Given the description of an element on the screen output the (x, y) to click on. 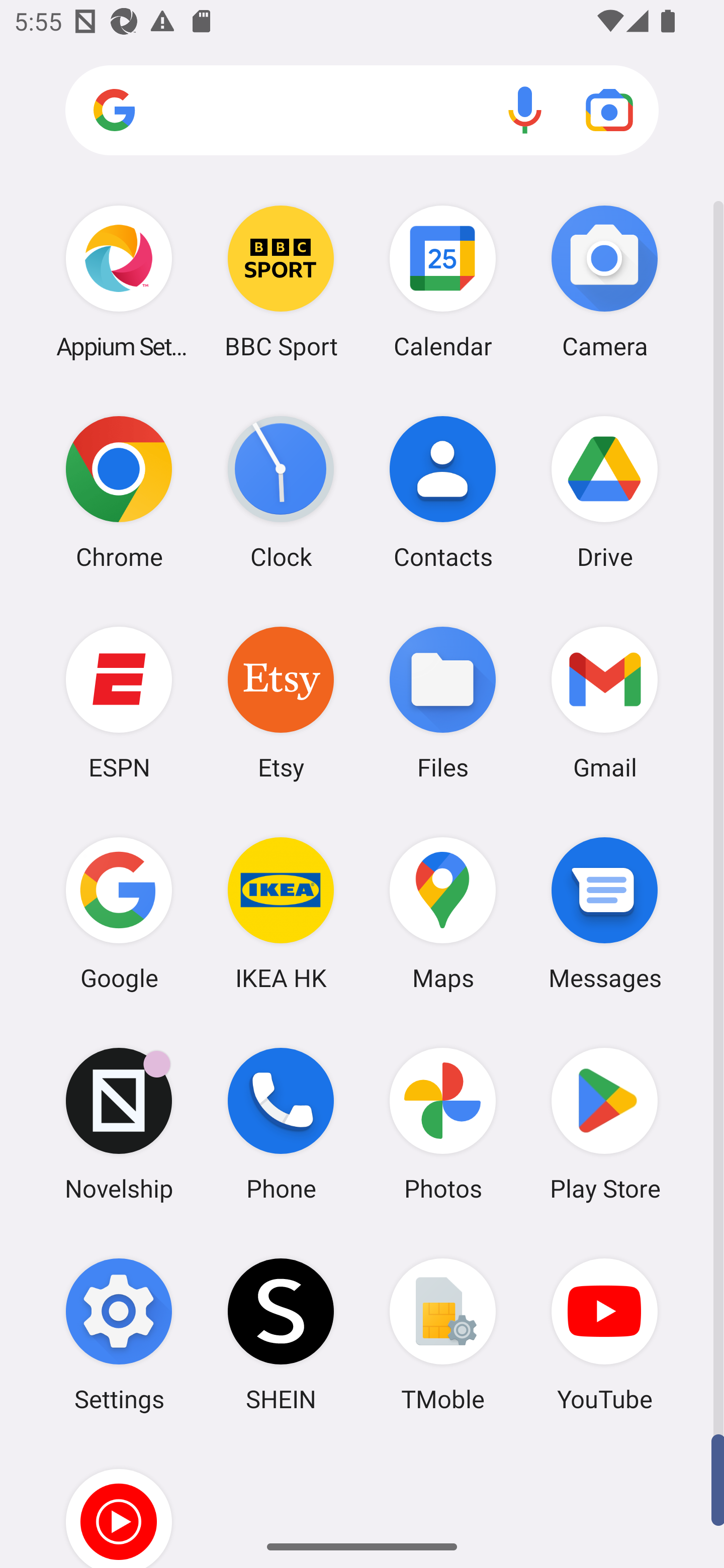
Search apps, web and more (361, 110)
Voice search (524, 109)
Google Lens (608, 109)
Appium Settings (118, 281)
BBC Sport (280, 281)
Calendar (443, 281)
Camera (604, 281)
Chrome (118, 492)
Clock (280, 492)
Contacts (443, 492)
Drive (604, 492)
ESPN (118, 702)
Etsy (280, 702)
Files (443, 702)
Gmail (604, 702)
Google (118, 913)
IKEA HK (280, 913)
Maps (443, 913)
Messages (604, 913)
Novelship Novelship has 2 notifications (118, 1124)
Phone (280, 1124)
Photos (443, 1124)
Play Store (604, 1124)
Settings (118, 1334)
SHEIN (280, 1334)
TMoble (443, 1334)
YouTube (604, 1334)
YT Music (118, 1503)
